Given the description of an element on the screen output the (x, y) to click on. 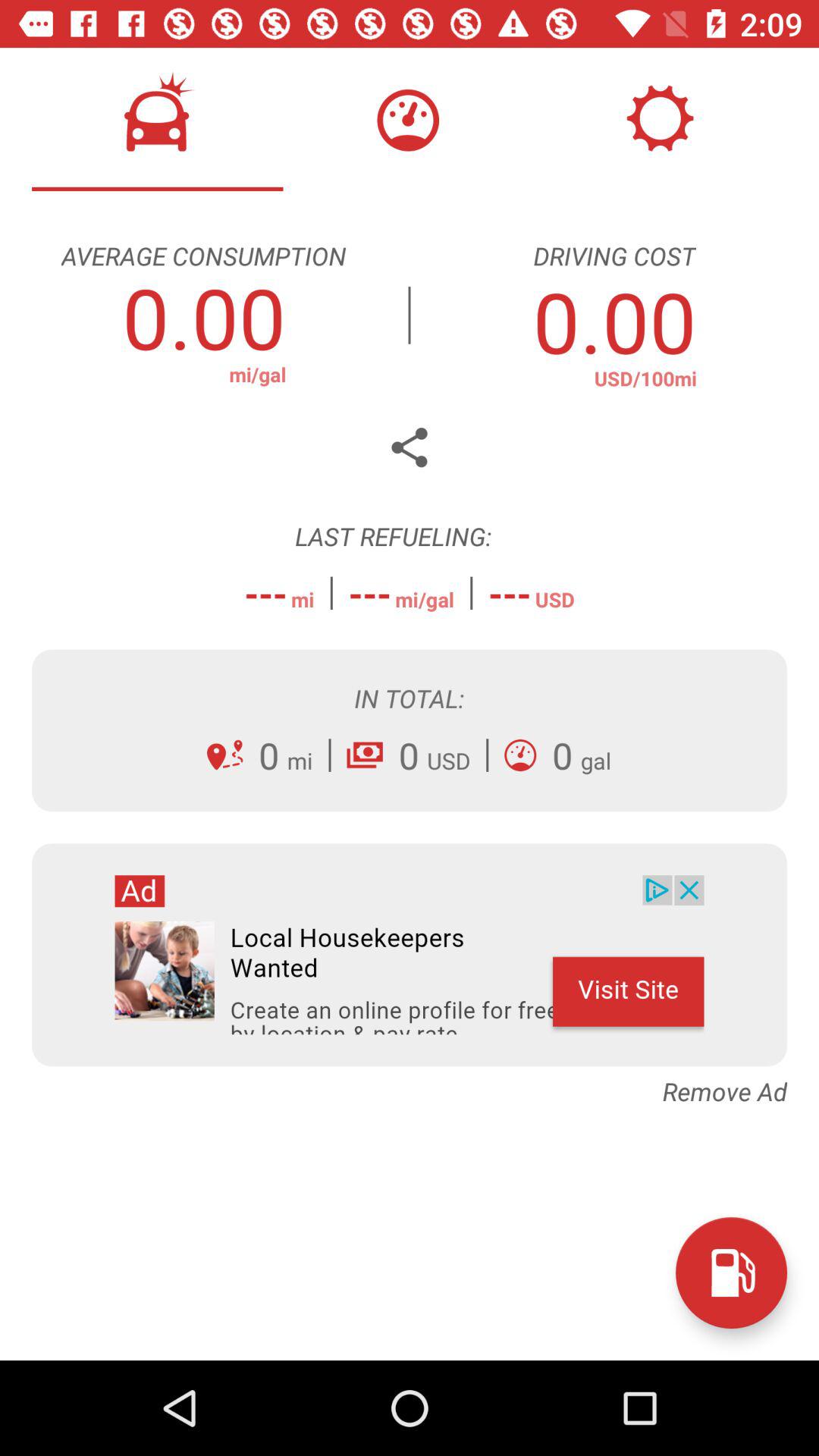
to log fueling event (731, 1272)
